Given the description of an element on the screen output the (x, y) to click on. 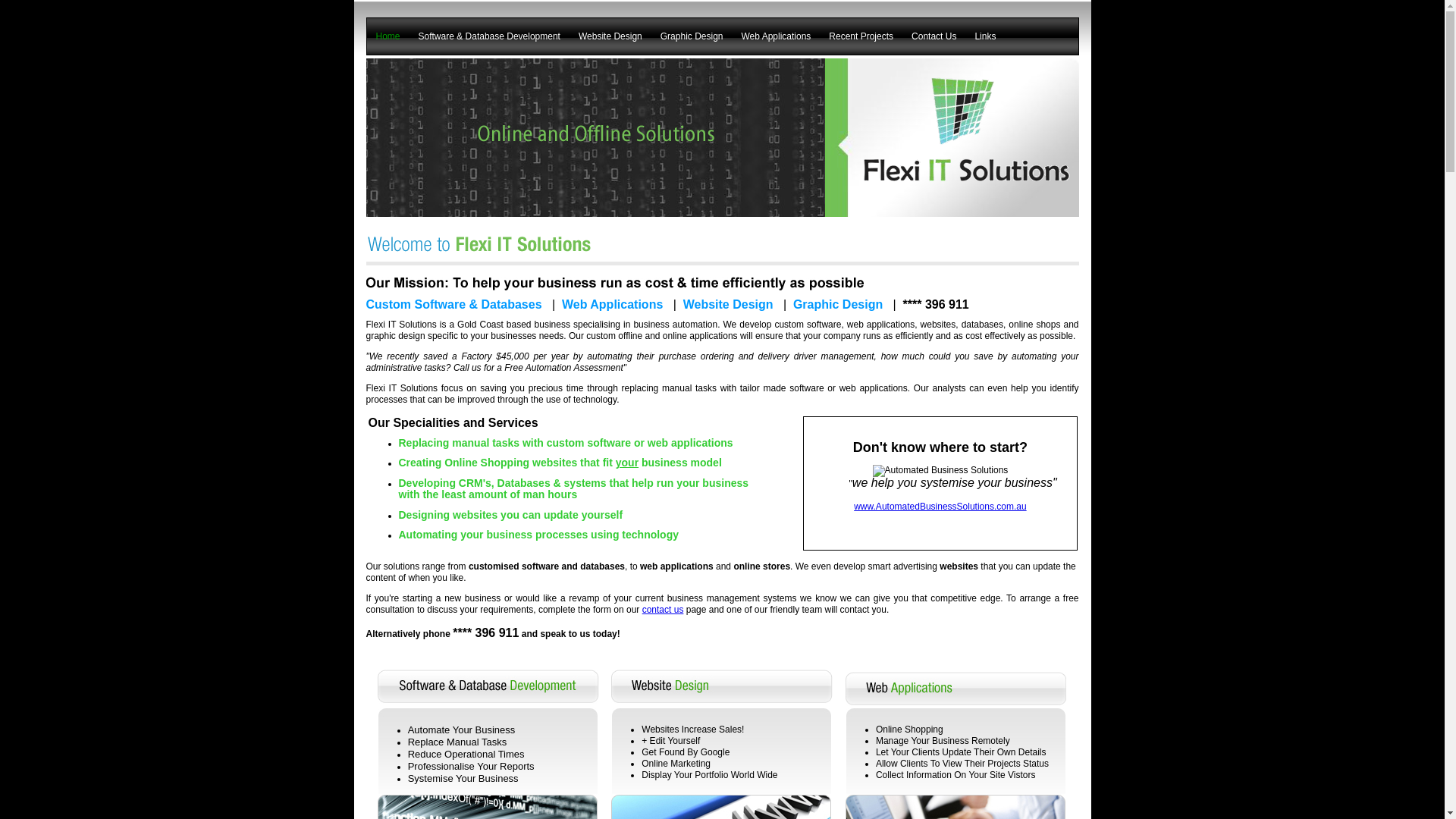
Contact Us Element type: text (933, 35)
custom software Element type: text (588, 442)
Website Design Element type: text (728, 304)
customised software and databases Element type: text (546, 566)
Flexi IT Solutions Element type: text (401, 387)
Software & Database Development Element type: text (489, 35)
Web Applications Element type: text (611, 304)
Web Applications Element type: text (776, 35)
web applications Element type: text (676, 566)
graphic design Element type: text (394, 335)
websites Element type: text (958, 566)
develop custom software Element type: text (789, 324)
business automation Element type: text (675, 324)
Graphic Design Element type: text (837, 304)
Graphic Design Element type: text (691, 35)
Links Element type: text (984, 35)
contact us Element type: text (663, 609)
web applications Element type: text (690, 442)
Home Element type: text (388, 35)
www.AutomatedBusinessSolutions.com.au Element type: text (939, 506)
Custom Software & Databases Element type: text (453, 304)
Designing websites Element type: text (448, 514)
Automating your business processes Element type: text (493, 534)
Recent Projects Element type: text (860, 35)
websites Element type: text (938, 324)
Creating Online Shopping Element type: text (464, 462)
Website Design Element type: text (610, 35)
web applications Element type: text (880, 324)
